Given the description of an element on the screen output the (x, y) to click on. 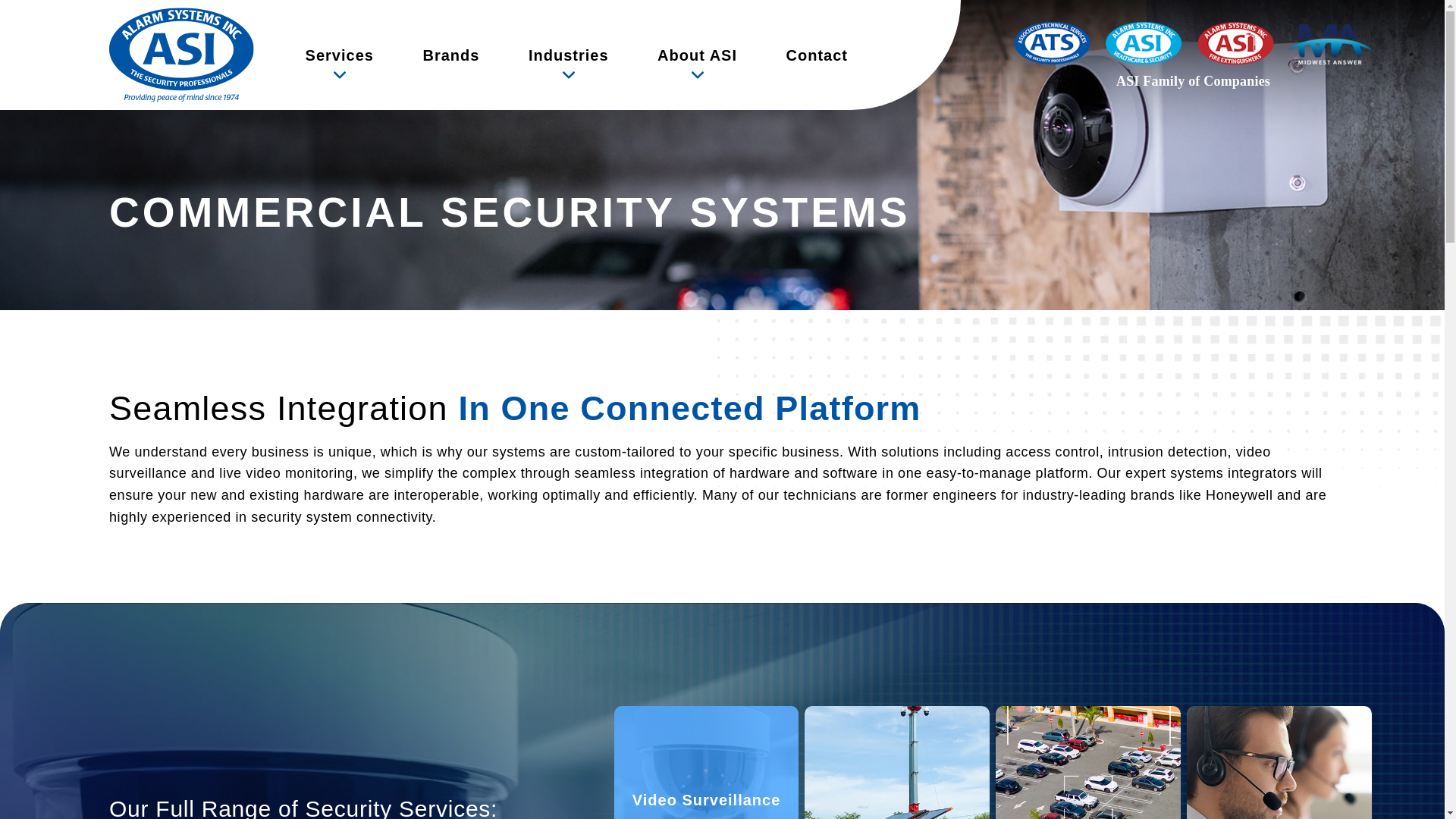
Services (339, 55)
Brands (450, 55)
Our Commercial Services (339, 55)
Alarm Systems, Inc. The Security Professionals (181, 54)
About ASI (696, 55)
Industries (568, 55)
